Given the description of an element on the screen output the (x, y) to click on. 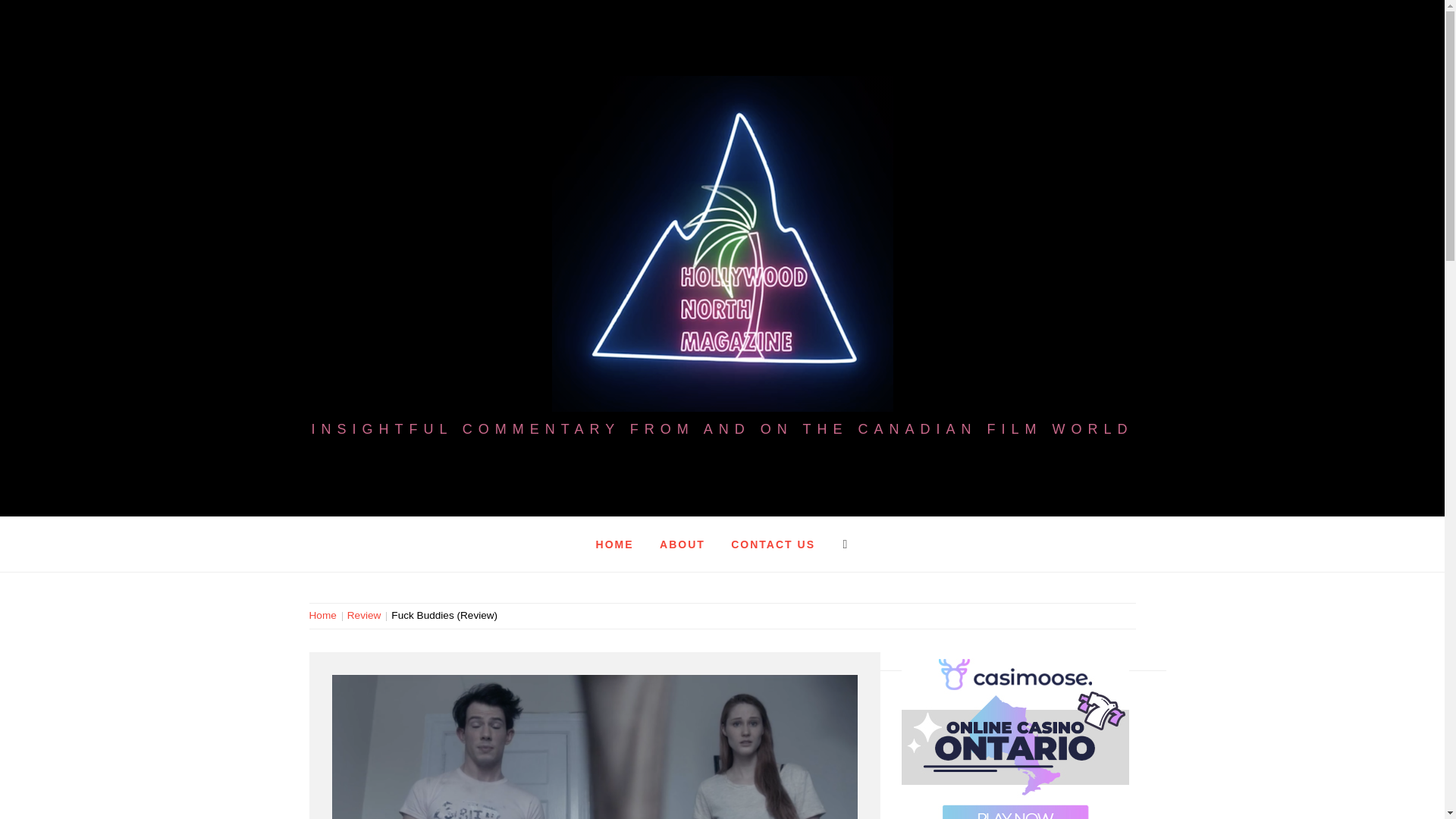
Search (646, 37)
ABOUT (681, 543)
CONTACT US (773, 543)
Home (325, 614)
Review (364, 614)
HOME (615, 543)
